Given the description of an element on the screen output the (x, y) to click on. 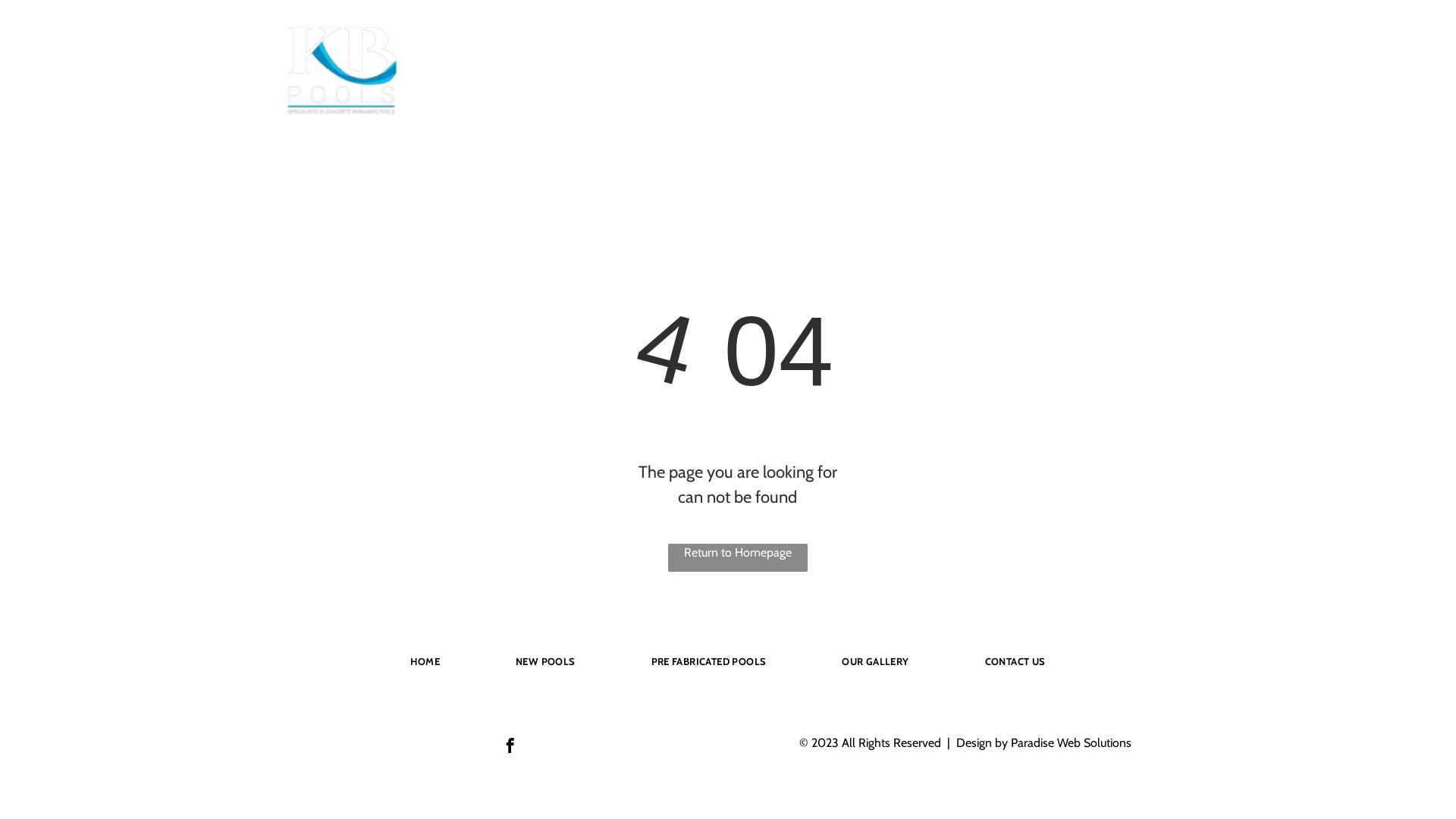
CONTACT US Element type: text (1015, 660)
OUR GALLERY Element type: text (964, 79)
PRE FABRICATED POOLS Element type: text (708, 660)
Paradise Web Solutions Element type: text (1070, 742)
OUR GALLERY Element type: text (874, 660)
NEW POOLS Element type: text (601, 79)
PRE FABRICATED POOLS Element type: text (833, 79)
CONTACT US Element type: text (1064, 79)
HOME Element type: text (521, 79)
Return to Homepage Element type: text (737, 557)
NEW POOLS Element type: text (545, 660)
HOME Element type: text (424, 660)
RENOVATIONS Element type: text (701, 79)
